Given the description of an element on the screen output the (x, y) to click on. 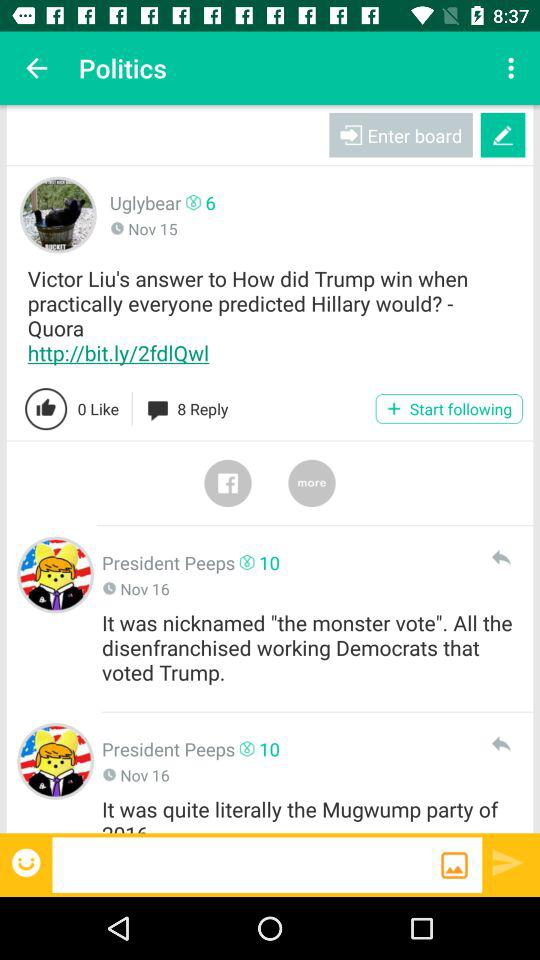
allows the user to upload a file (454, 865)
